Given the description of an element on the screen output the (x, y) to click on. 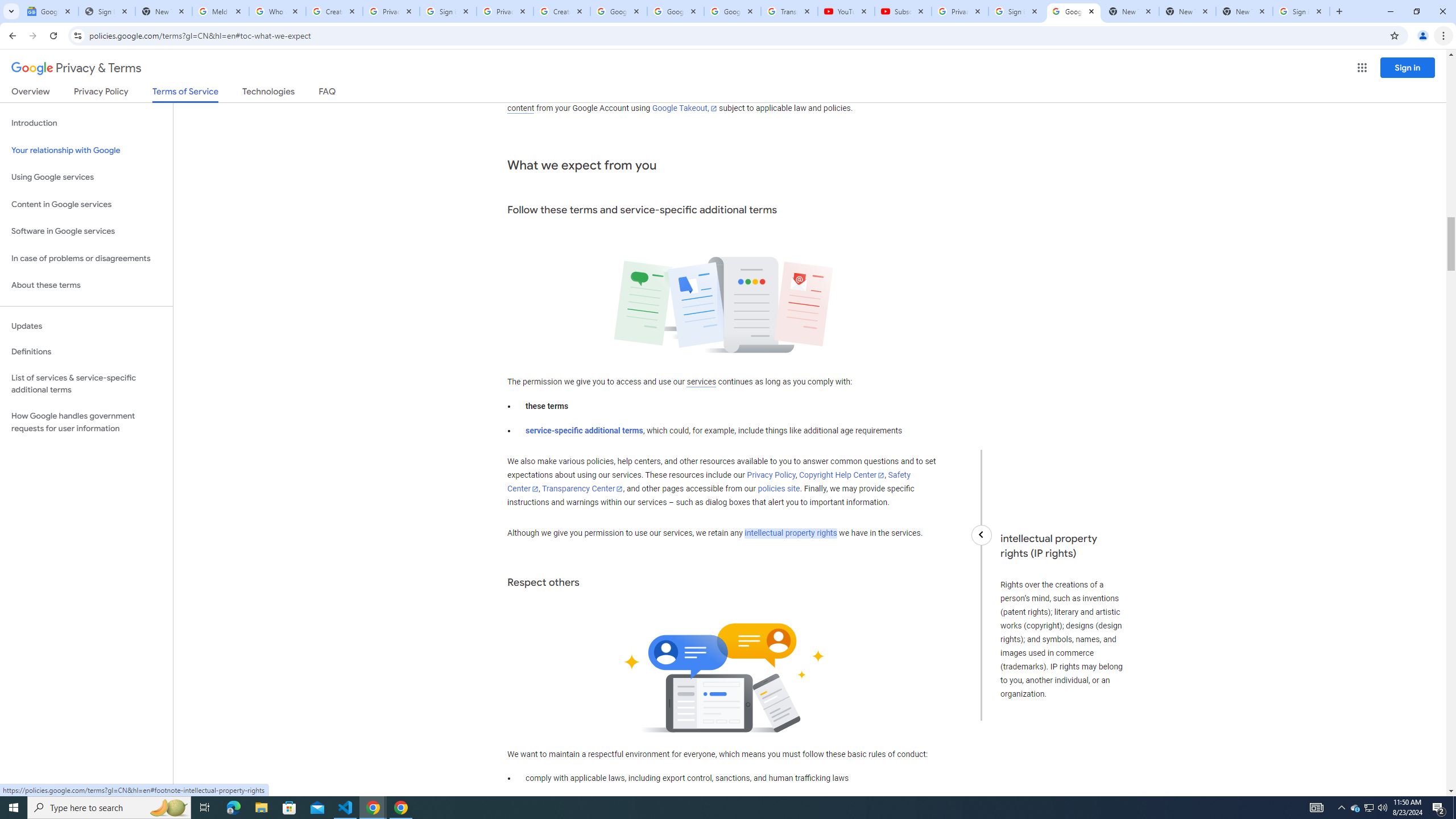
About these terms (86, 284)
List of services & service-specific additional terms (86, 383)
Content in Google services (86, 204)
Create your Google Account (561, 11)
Safety Center (708, 481)
Overview (30, 93)
Privacy Policy (770, 475)
Sign In - USA TODAY (105, 11)
